Given the description of an element on the screen output the (x, y) to click on. 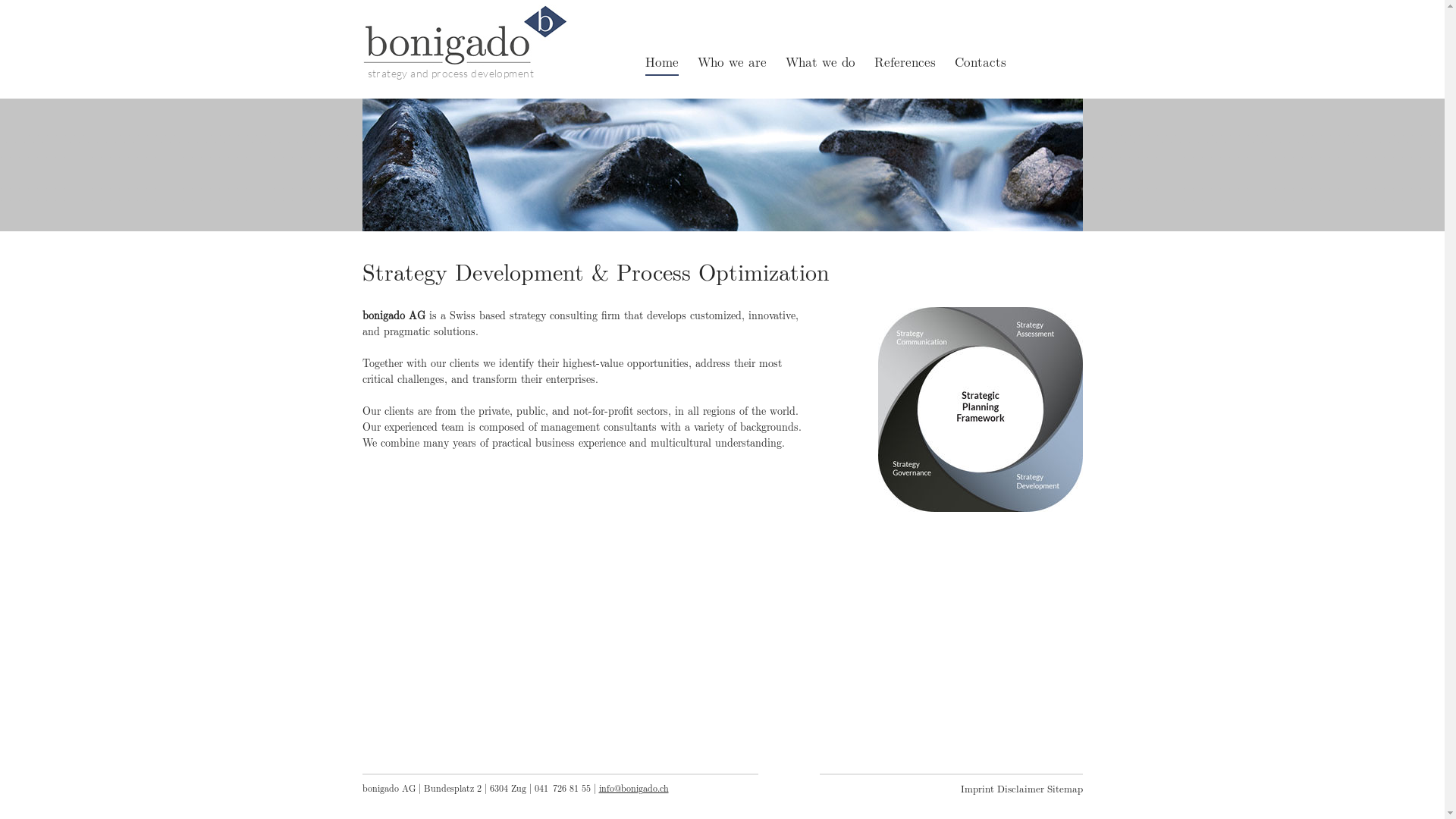
strategy and process development Element type: text (464, 75)
References Element type: text (904, 61)
Imprint Element type: text (976, 788)
  Element type: text (568, 78)
What we do Element type: text (820, 61)
Disclaimer Element type: text (1019, 788)
Who we are Element type: text (731, 61)
Contacts Element type: text (979, 61)
info@bonigado.ch Element type: text (633, 787)
Sitemap Element type: text (1064, 788)
  Element type: text (960, 805)
Skip navigation Element type: text (960, 779)
